Given the description of an element on the screen output the (x, y) to click on. 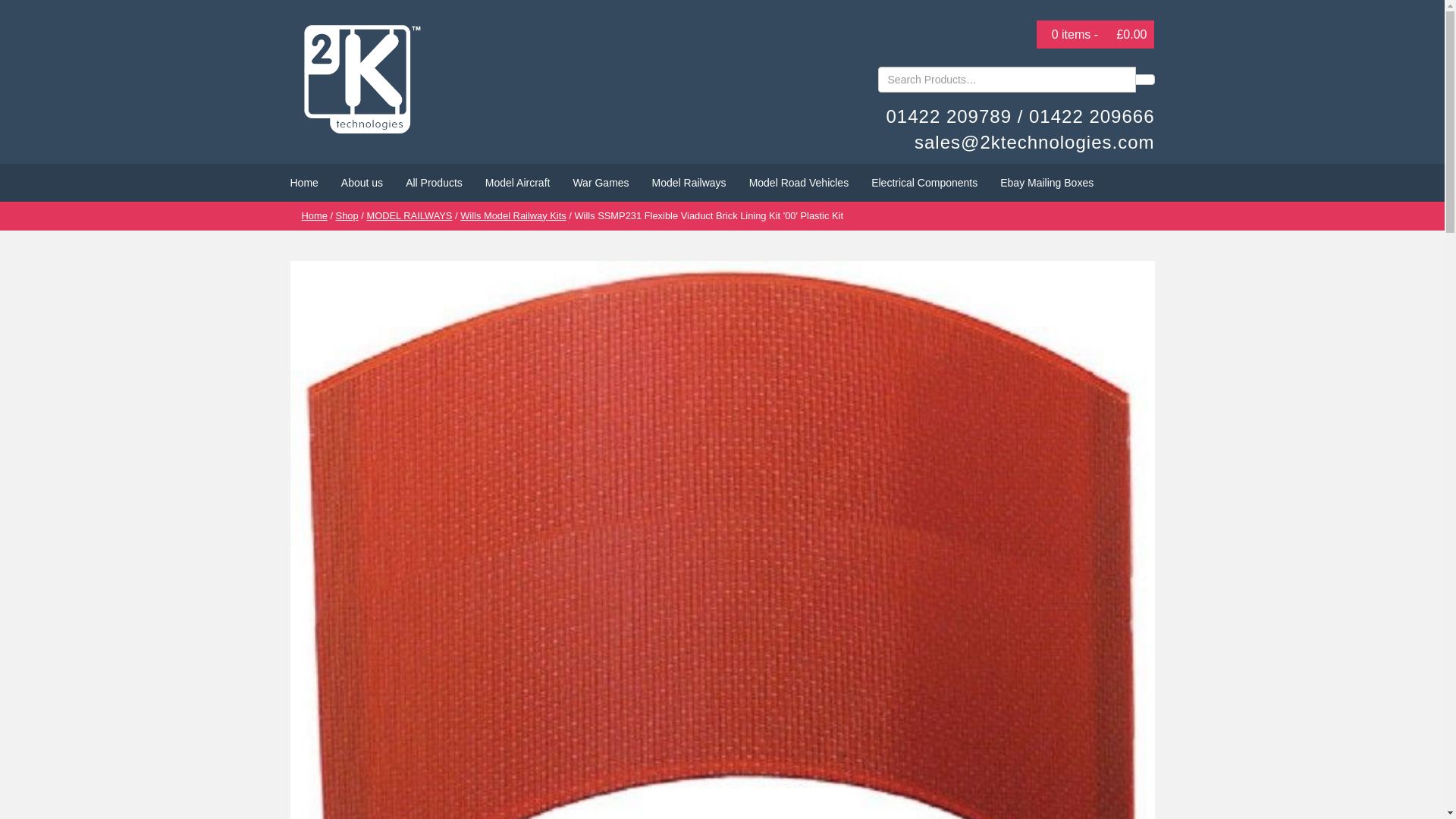
Model Aircraft (518, 182)
Ebay Mailing Boxes (1046, 182)
Wills Model Railway Kits (513, 215)
Model Aircraft (518, 182)
About us (362, 182)
MODEL RAILWAYS (408, 215)
War Games (600, 182)
Home (314, 215)
Home (304, 182)
Model Railways (689, 182)
Model Railways (689, 182)
Search (1144, 79)
Ebay Mailing Boxes (1046, 182)
Shop (347, 215)
